Given the description of an element on the screen output the (x, y) to click on. 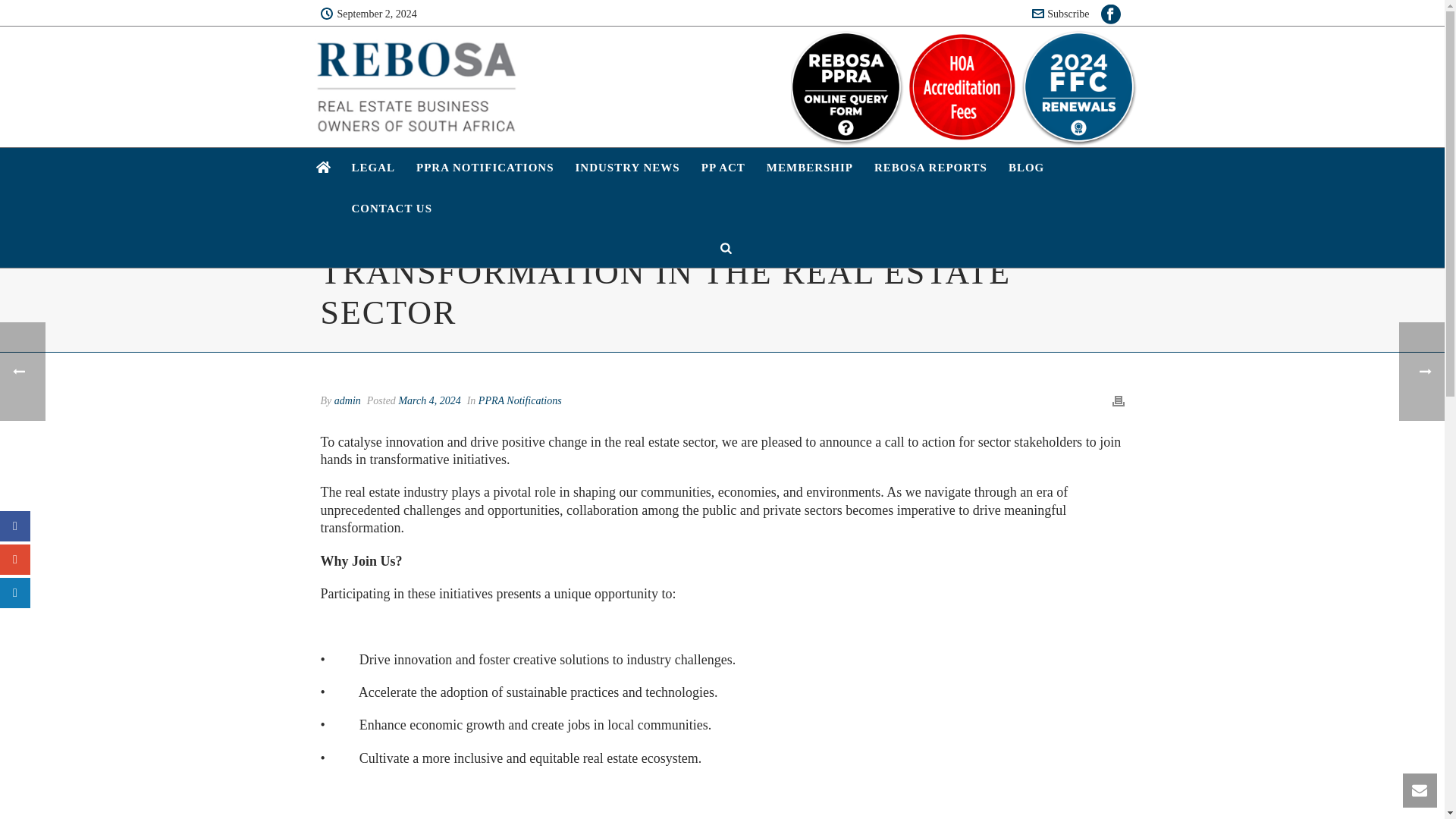
BLOG (1025, 168)
Posts by admin (347, 400)
BLOG (1025, 168)
Real Estate Business Owners of South Africa (415, 87)
PPRA Notifications (520, 400)
Rebosa (415, 83)
PPRA NOTIFICATIONS (485, 168)
PP ACT (722, 168)
MEMBERSHIP (809, 168)
INDUSTRY NEWS (627, 168)
